Given the description of an element on the screen output the (x, y) to click on. 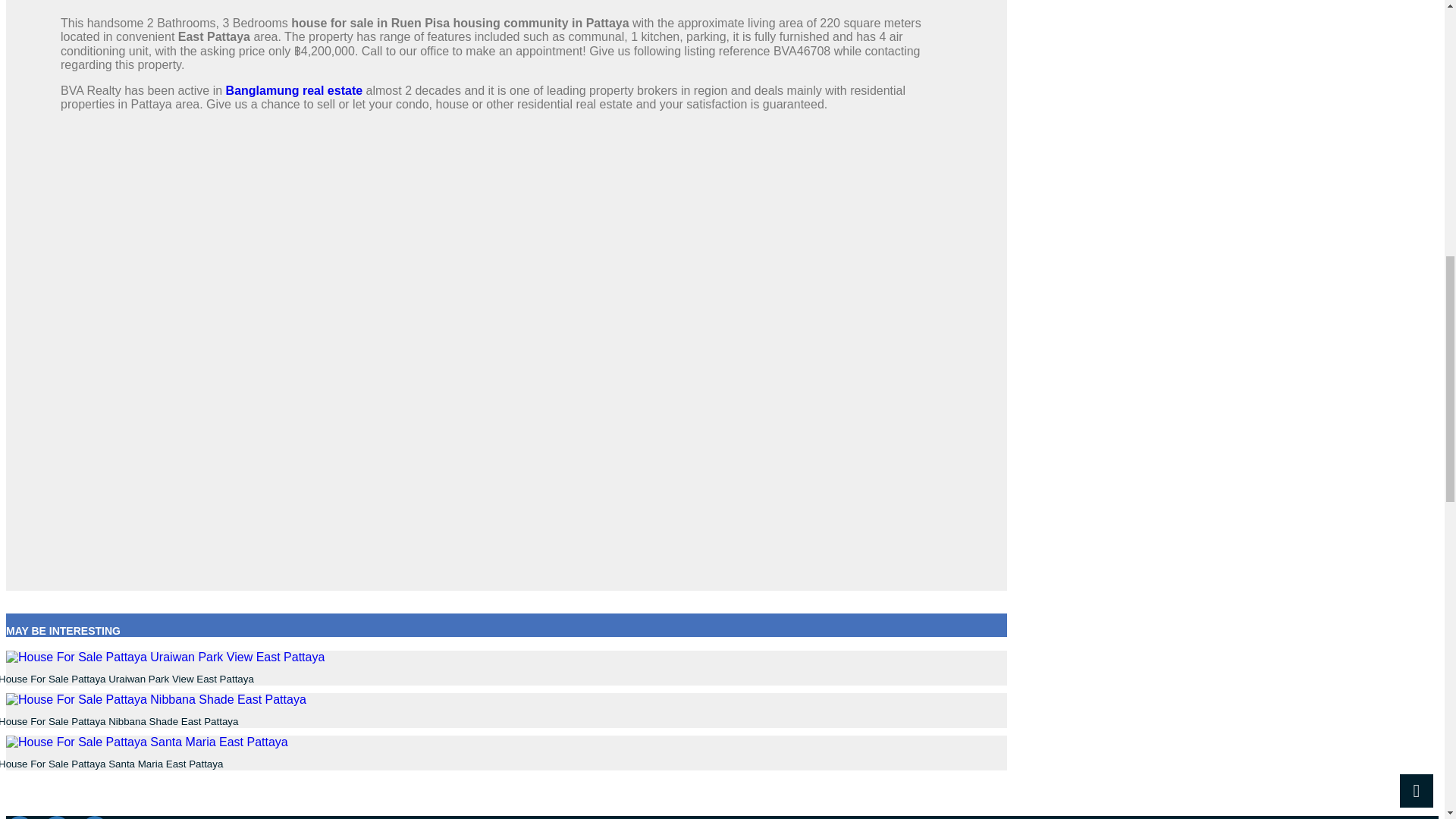
House For Sale Pattaya Santa Maria East Pattaya (111, 763)
House For Sale Pattaya Uraiwan Park View East Pattaya (126, 678)
Banglamung real estate (293, 90)
House For Sale Pattaya Nibbana Shade East Pattaya (119, 721)
